Given the description of an element on the screen output the (x, y) to click on. 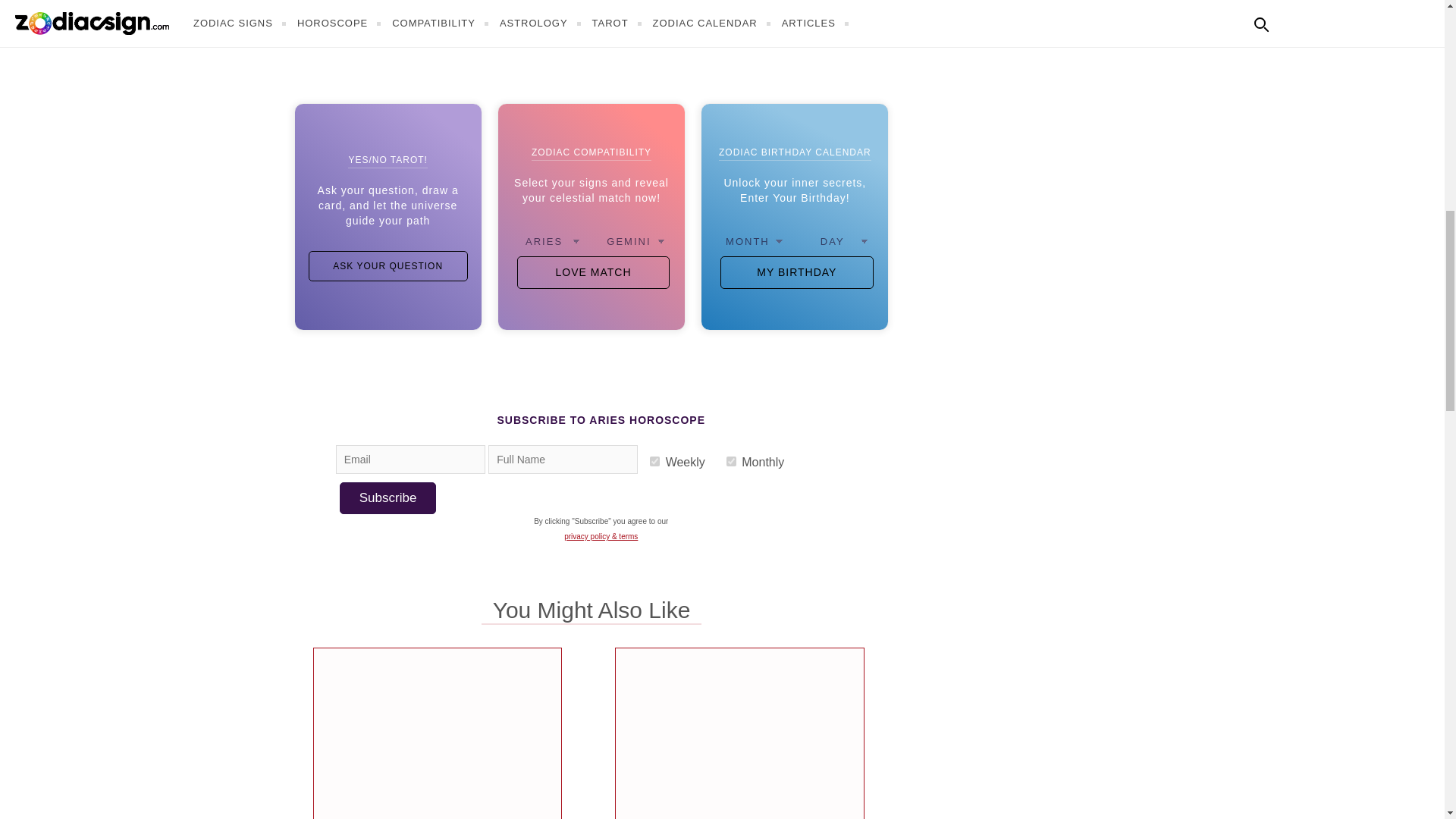
weekly (654, 461)
monthly (731, 461)
